Given the description of an element on the screen output the (x, y) to click on. 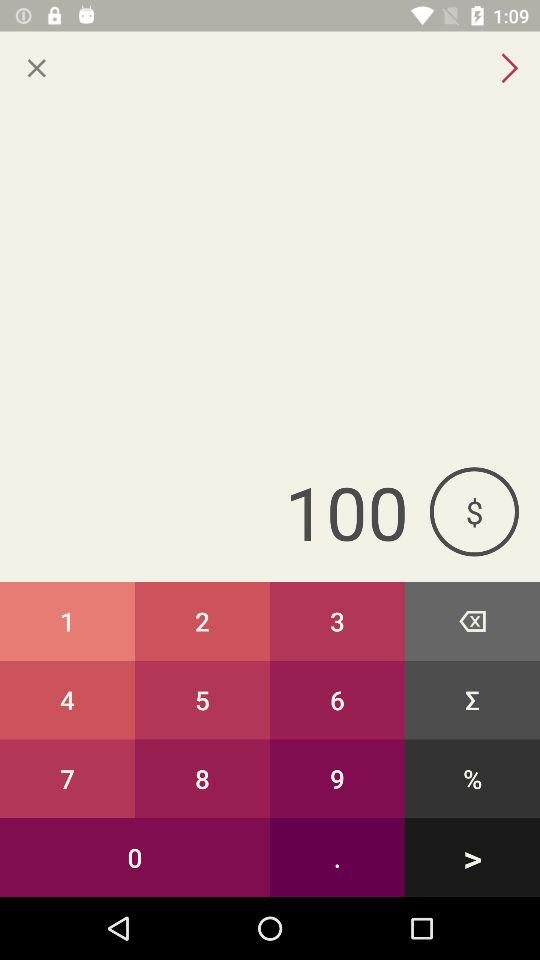
open the icon below the 2 icon (337, 699)
